Given the description of an element on the screen output the (x, y) to click on. 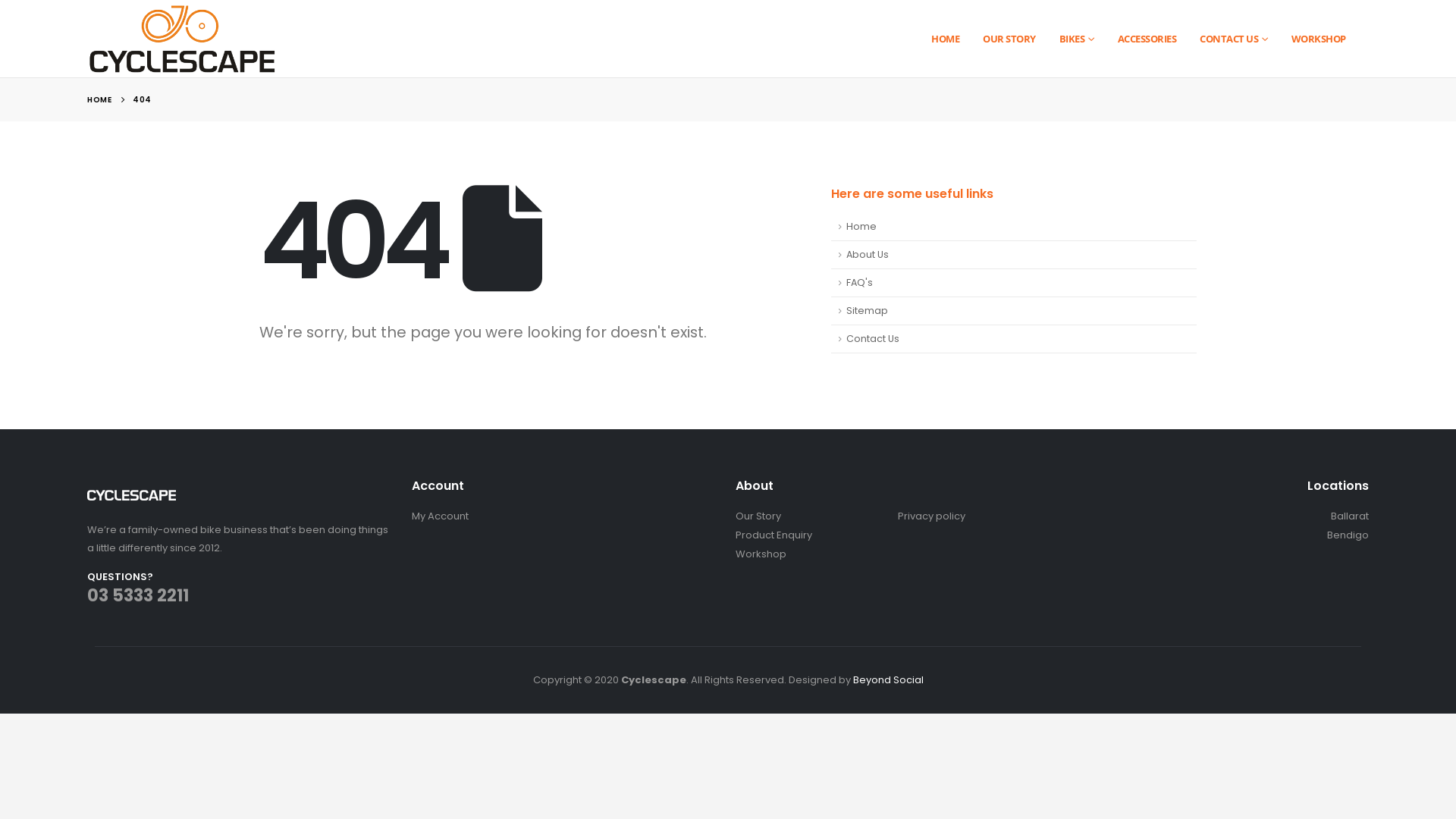
Sitemap Element type: text (1013, 311)
Product Enquiry Element type: text (773, 534)
Ballarat Element type: text (1349, 515)
ACCESSORIES Element type: text (1147, 38)
Home Element type: text (1013, 227)
OUR STORY Element type: text (1009, 38)
HOME Element type: text (99, 99)
CONTACT US Element type: text (1233, 38)
Privacy policy Element type: text (931, 515)
WORKSHOP Element type: text (1318, 38)
Beyond Social Element type: text (887, 679)
About Us Element type: text (1013, 255)
HOME Element type: text (944, 38)
BIKES Element type: text (1076, 38)
cyclescape Element type: hover (131, 495)
03 5333 2211 Element type: text (137, 595)
Workshop Element type: text (760, 553)
Bendigo Element type: text (1347, 534)
Our Story Element type: text (758, 515)
My Account Element type: text (439, 515)
FAQ's Element type: text (1013, 283)
Contact Us Element type: text (1013, 339)
